Given the description of an element on the screen output the (x, y) to click on. 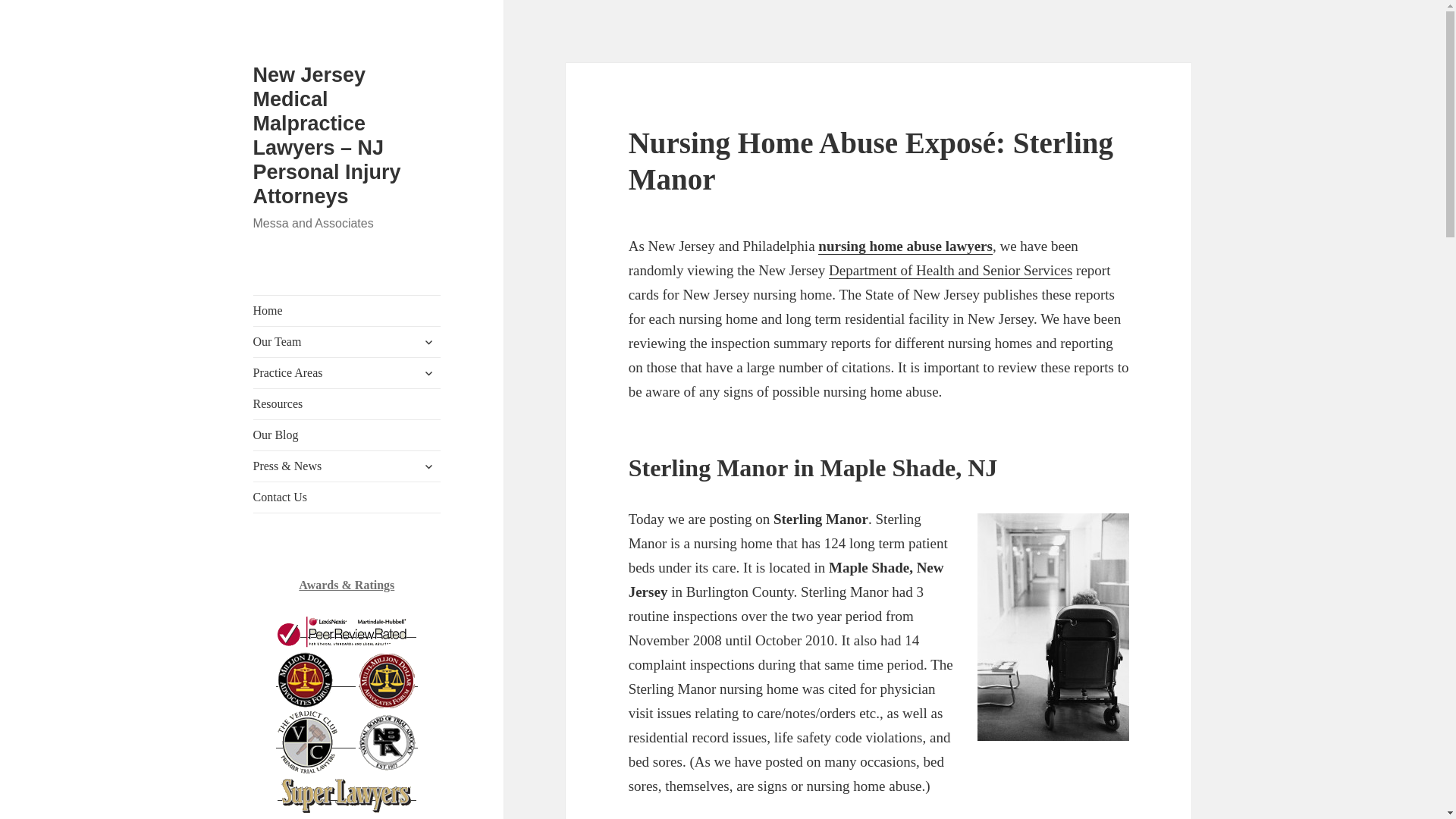
New Jersey Philadelphia Lawyers: Nursing Home Abuse (905, 246)
expand child menu (428, 341)
expand child menu (428, 372)
Our Team (347, 341)
Practice Areas (347, 372)
Home (347, 310)
